Given the description of an element on the screen output the (x, y) to click on. 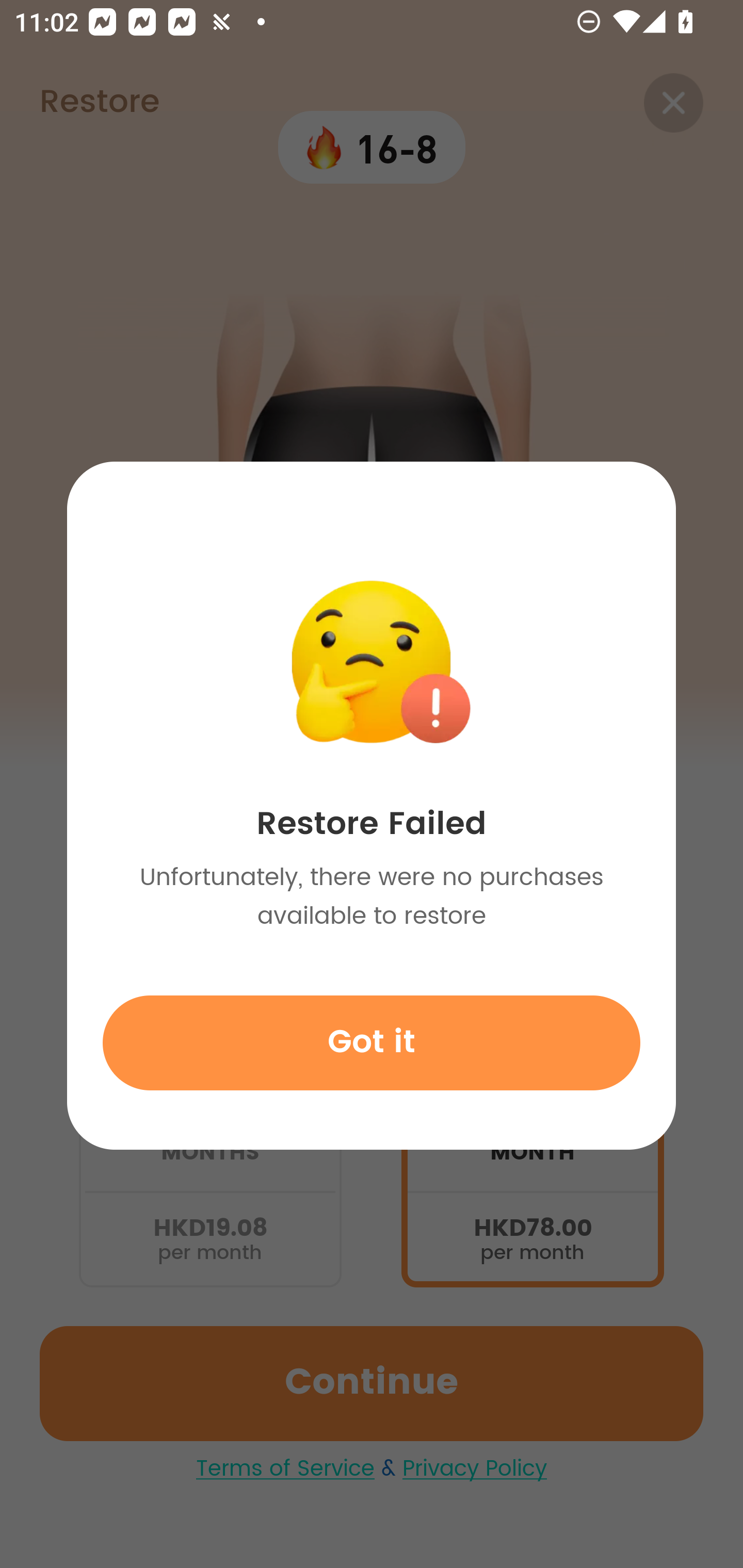
Got it (371, 1042)
